Given the description of an element on the screen output the (x, y) to click on. 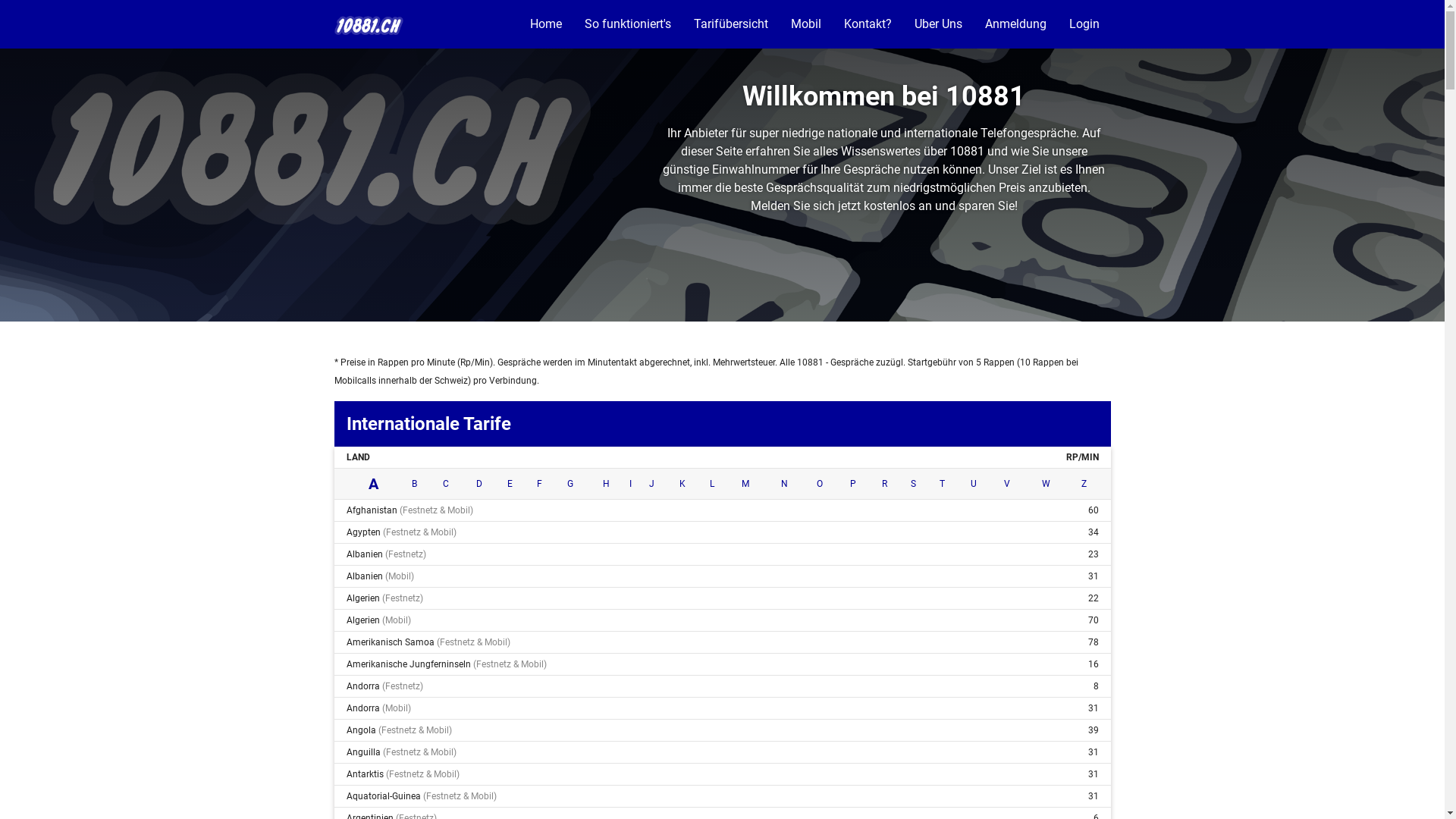
C Element type: text (445, 483)
P Element type: text (853, 483)
Z Element type: text (1083, 483)
E Element type: text (509, 483)
Anmeldung Element type: text (1015, 24)
M Element type: text (745, 483)
W Element type: text (1045, 483)
Mobil Element type: text (805, 24)
K Element type: text (682, 483)
O Element type: text (819, 483)
So funktioniert's Element type: text (627, 24)
R Element type: text (884, 483)
G Element type: text (570, 483)
L Element type: text (711, 483)
H Element type: text (605, 483)
V Element type: text (1007, 483)
Login Element type: text (1083, 24)
F Element type: text (539, 483)
Home Element type: text (545, 24)
S Element type: text (913, 483)
T Element type: text (941, 483)
J Element type: text (651, 483)
B Element type: text (414, 483)
Kontakt? Element type: text (867, 24)
Uber Uns Element type: text (937, 24)
U Element type: text (973, 483)
D Element type: text (479, 483)
A Element type: text (373, 483)
N Element type: text (784, 483)
I Element type: text (630, 483)
